Given the description of an element on the screen output the (x, y) to click on. 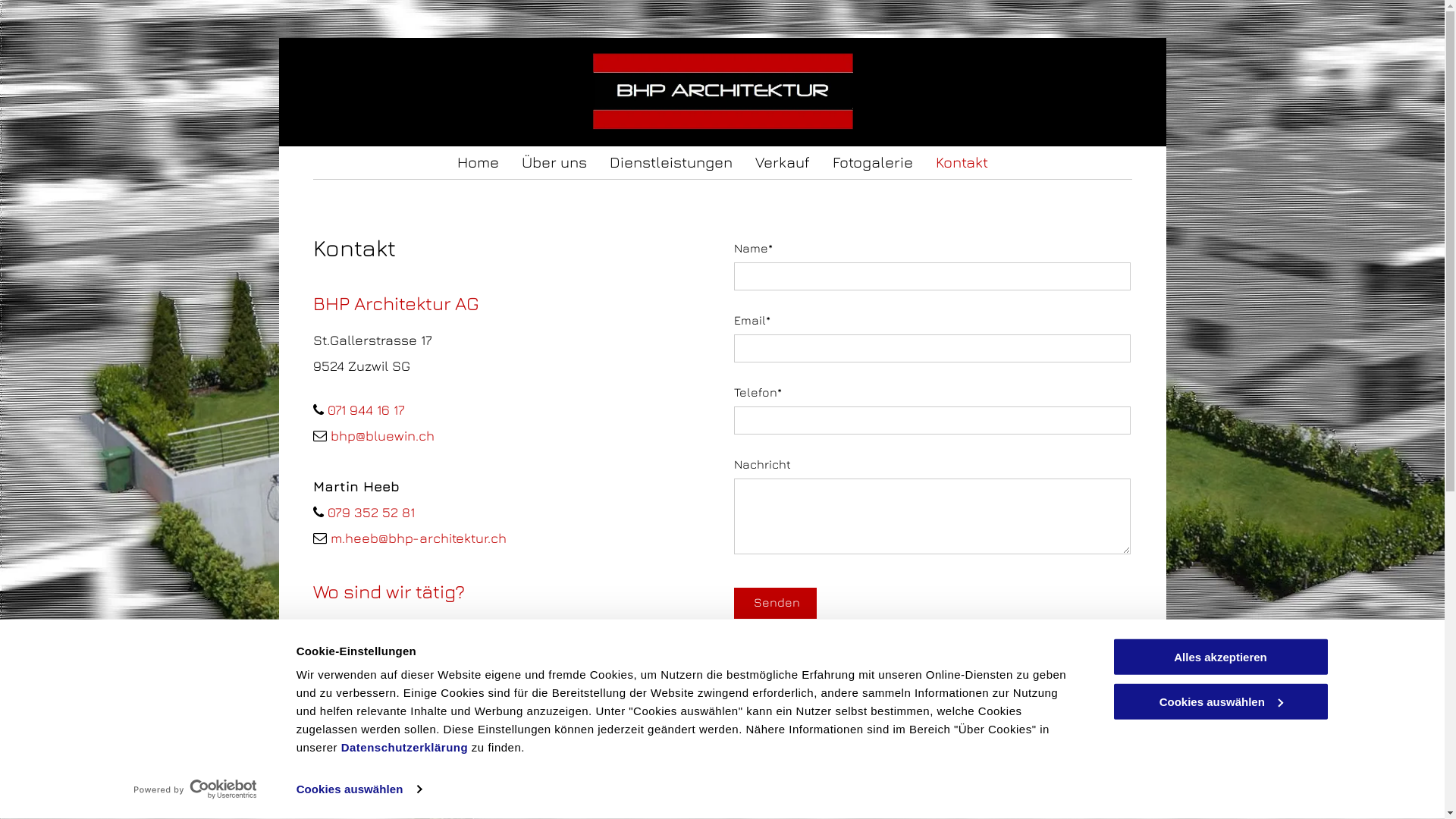
079 352 52 81 Element type: text (370, 512)
Fotogalerie Element type: text (872, 161)
Verkauf Element type: text (782, 161)
Senden Element type: text (776, 601)
071 944 16 17 Element type: text (365, 409)
bhp@bluewin.ch Element type: text (382, 435)
Home Element type: text (477, 161)
Kontakt Element type: text (961, 161)
m.heeb@bhp-architektur.ch Element type: text (418, 538)
Dienstleistungen Element type: text (670, 161)
Alles akzeptieren Element type: text (1219, 656)
